Given the description of an element on the screen output the (x, y) to click on. 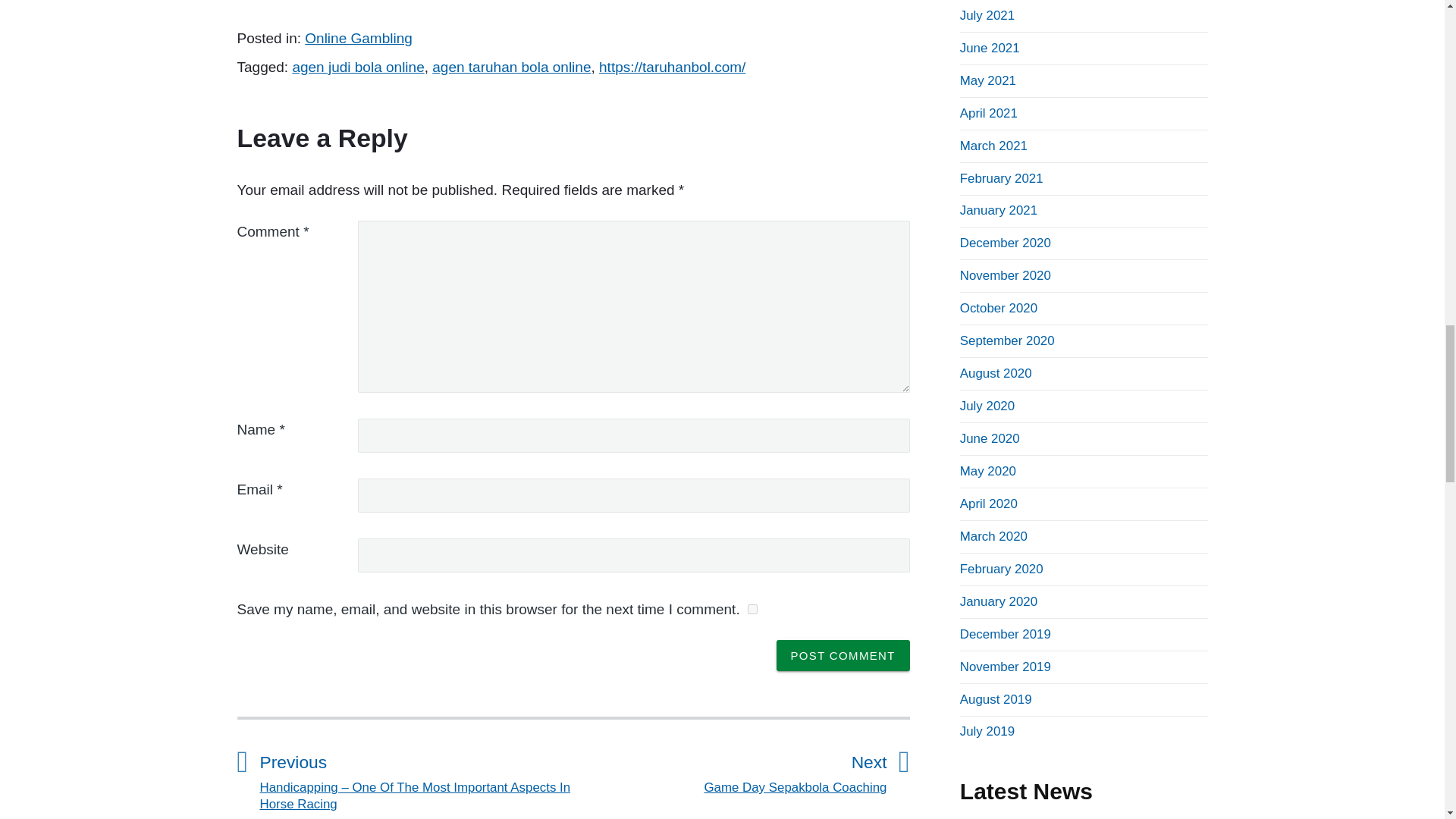
agen judi bola online (357, 66)
agen taruhan bola online (511, 66)
Online Gambling (729, 770)
Post Comment (358, 37)
Post Comment (843, 655)
yes (843, 655)
